Given the description of an element on the screen output the (x, y) to click on. 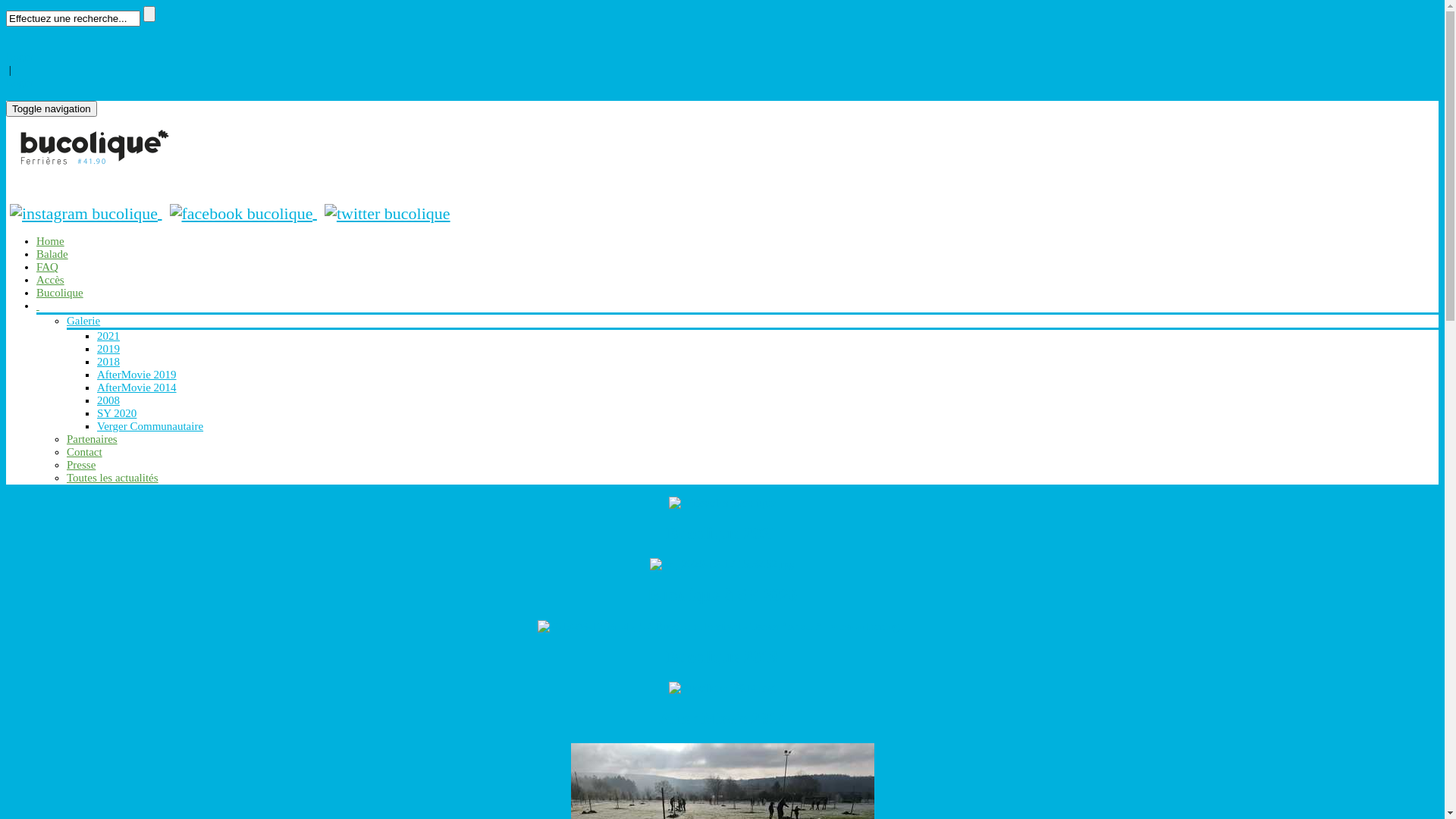
SY 2020 Element type: hover (721, 563)
Presse Element type: text (80, 464)
2019 Element type: text (108, 348)
Login Element type: text (19, 56)
  Element type: text (37, 305)
Balade bucolique 2021 Element type: hover (721, 501)
Contact Element type: text (84, 451)
Chercher Element type: hover (149, 13)
Home Element type: text (50, 241)
FAQ Element type: text (47, 266)
Galerie Element type: text (83, 320)
Bucolique 2021 Element type: text (722, 533)
2018 Element type: text (108, 361)
AfterMovie 2019 Element type: text (136, 374)
AfterMovie 2014 Element type: hover (721, 686)
2019 Element type: hover (721, 625)
Bucolique Element type: text (59, 292)
Bucolique 2019 Element type: text (722, 656)
2008 Element type: text (108, 400)
After Movie 2014 Element type: text (721, 718)
Balade Element type: text (52, 253)
Verger Communautaire Element type: text (150, 426)
SY 2020 Element type: text (116, 413)
AfterMovie 2014 Element type: text (136, 387)
Toggle navigation Element type: text (51, 108)
2021 Element type: text (108, 335)
Login Element type: text (19, 82)
Partenaires Element type: text (91, 439)
